Given the description of an element on the screen output the (x, y) to click on. 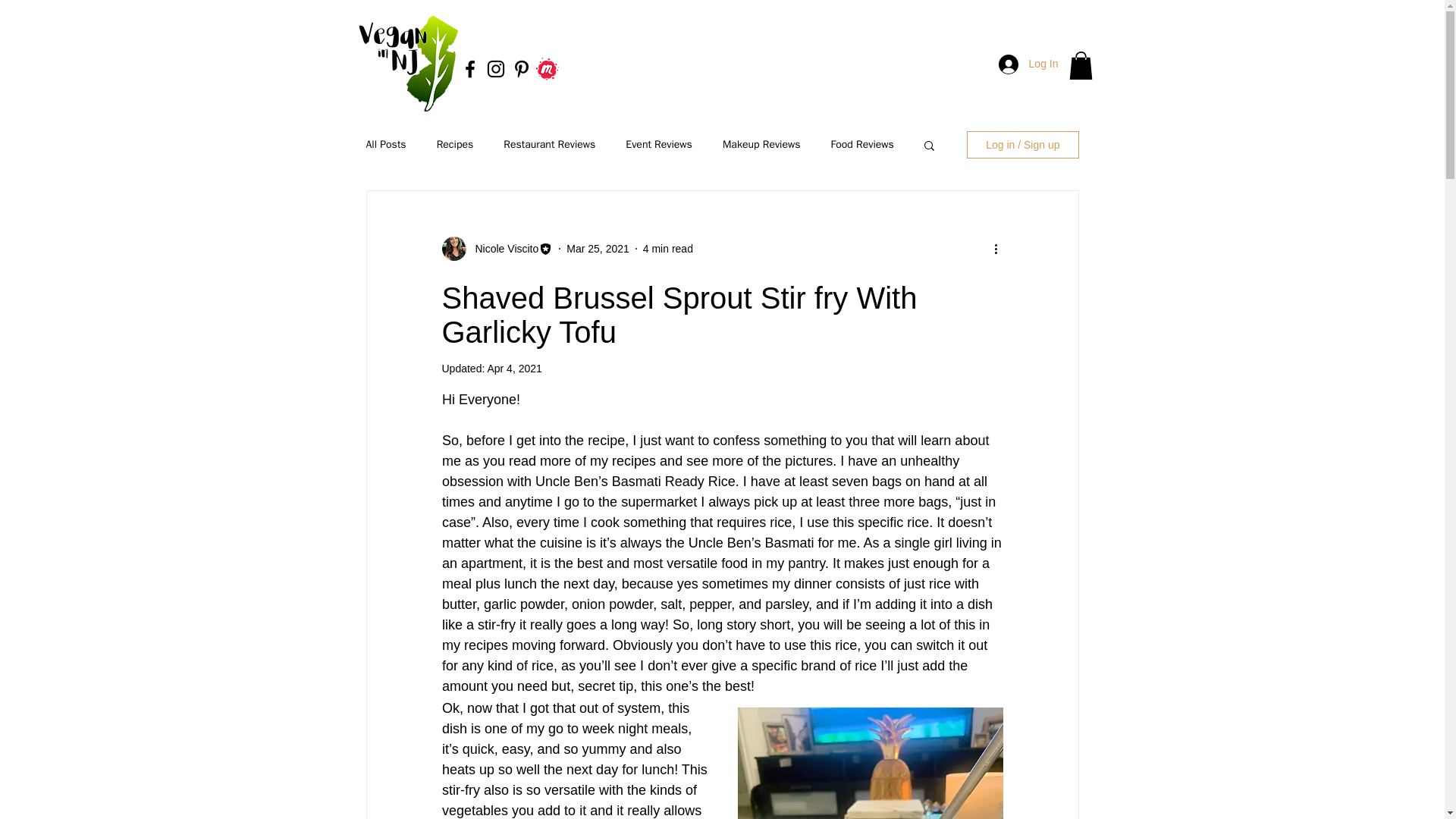
Mar 25, 2021 (597, 248)
All Posts (385, 144)
Log In (1028, 63)
Nicole Viscito (497, 248)
Apr 4, 2021 (513, 368)
Restaurant Reviews (549, 144)
4 min read (668, 248)
Recipes (455, 144)
Food Reviews (862, 144)
Event Reviews (659, 144)
Nicole Viscito (501, 248)
Makeup Reviews (761, 144)
